Given the description of an element on the screen output the (x, y) to click on. 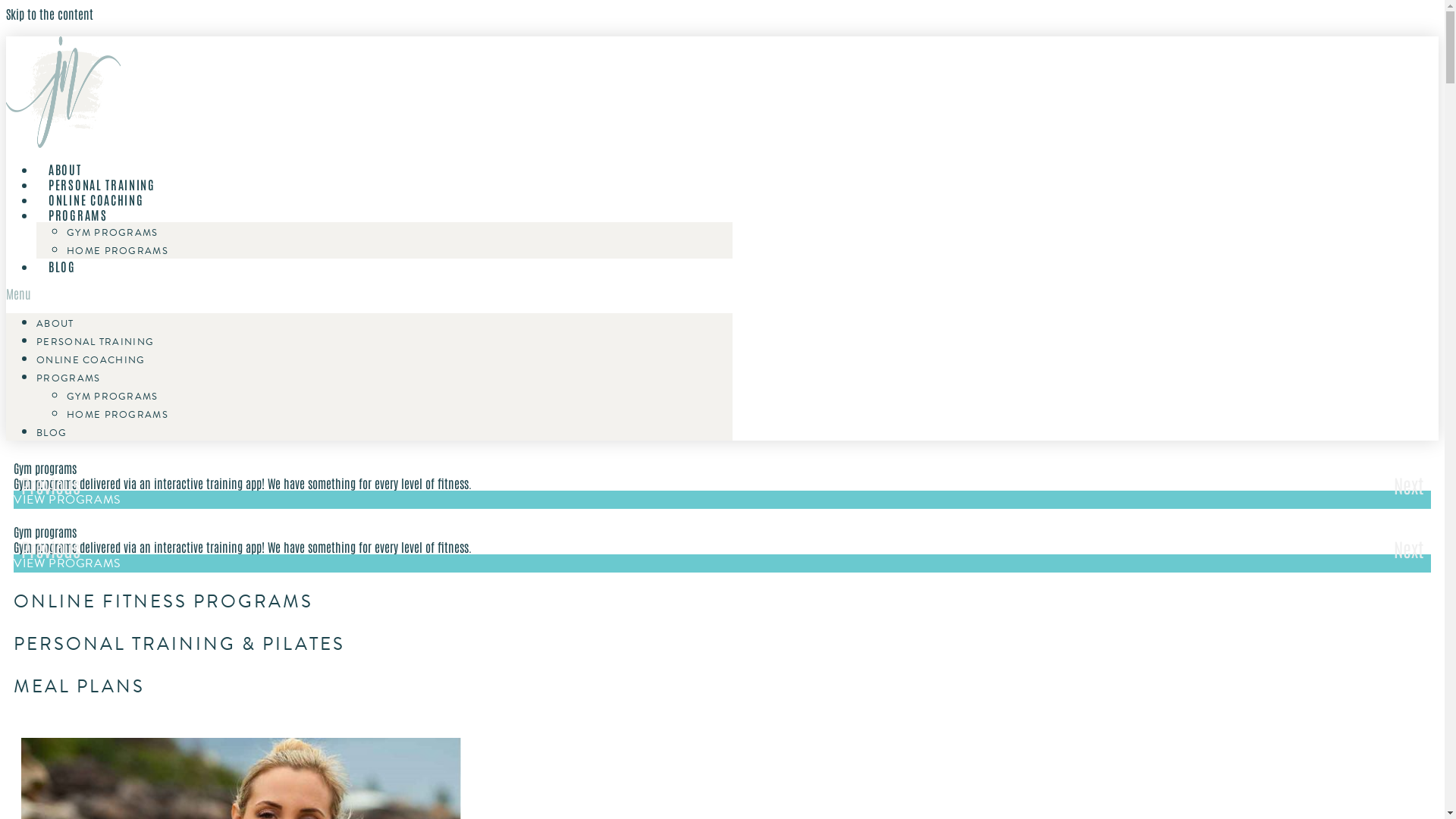
BLOG Element type: text (51, 432)
PROGRAMS Element type: text (77, 214)
PERSONAL TRAINING Element type: text (101, 183)
PROGRAMS Element type: text (68, 377)
BLOG Element type: text (61, 265)
GYM PROGRAMS Element type: text (112, 232)
ABOUT Element type: text (65, 168)
HOME PROGRAMS Element type: text (117, 414)
Skip to the content Element type: text (49, 13)
ONLINE COACHING Element type: text (96, 199)
ONLINE COACHING Element type: text (90, 359)
GYM PROGRAMS Element type: text (112, 396)
ABOUT Element type: text (55, 323)
HOME PROGRAMS Element type: text (117, 250)
PERSONAL TRAINING Element type: text (94, 341)
